Given the description of an element on the screen output the (x, y) to click on. 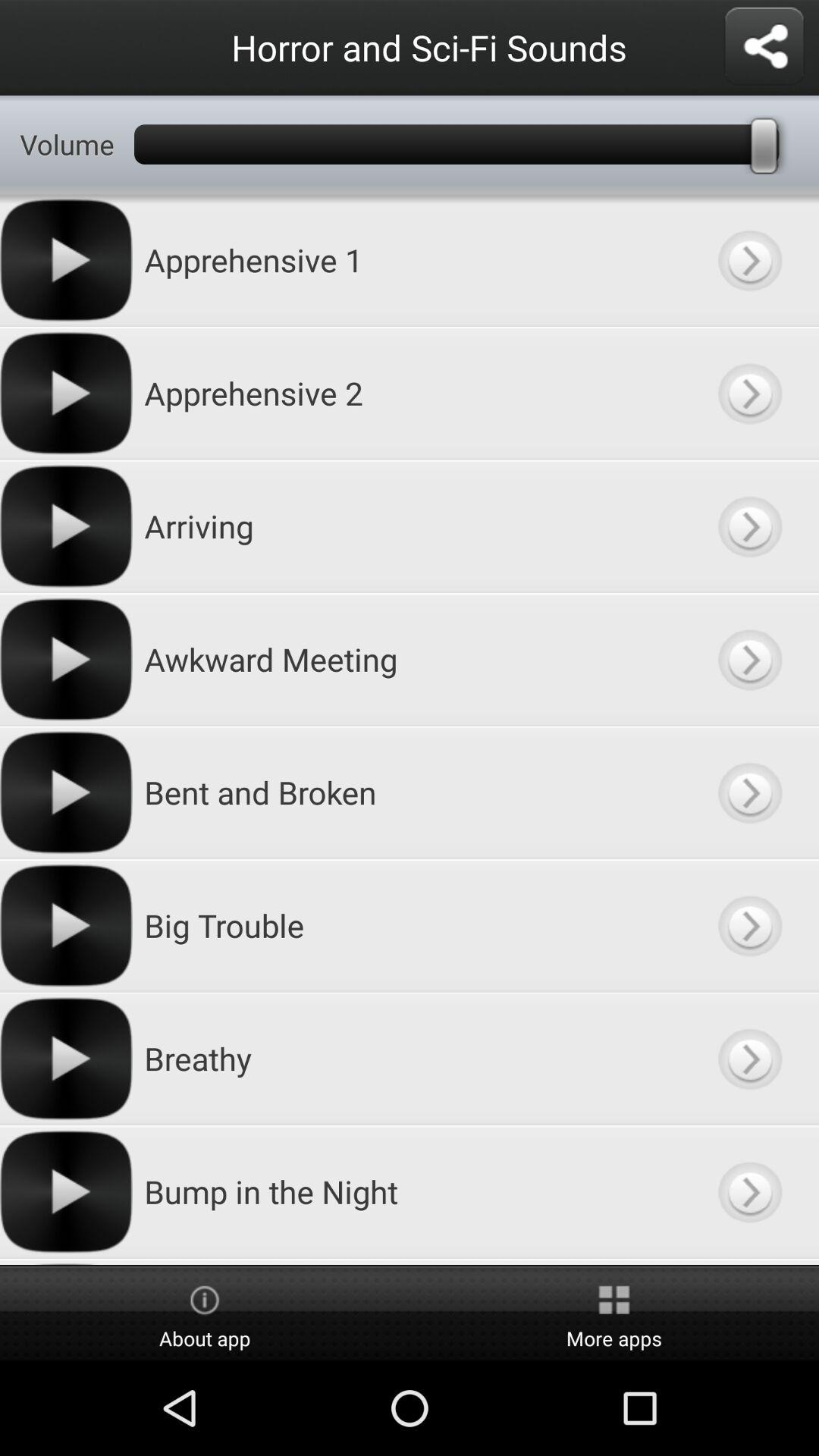
compartilhar artigo (764, 47)
